Given the description of an element on the screen output the (x, y) to click on. 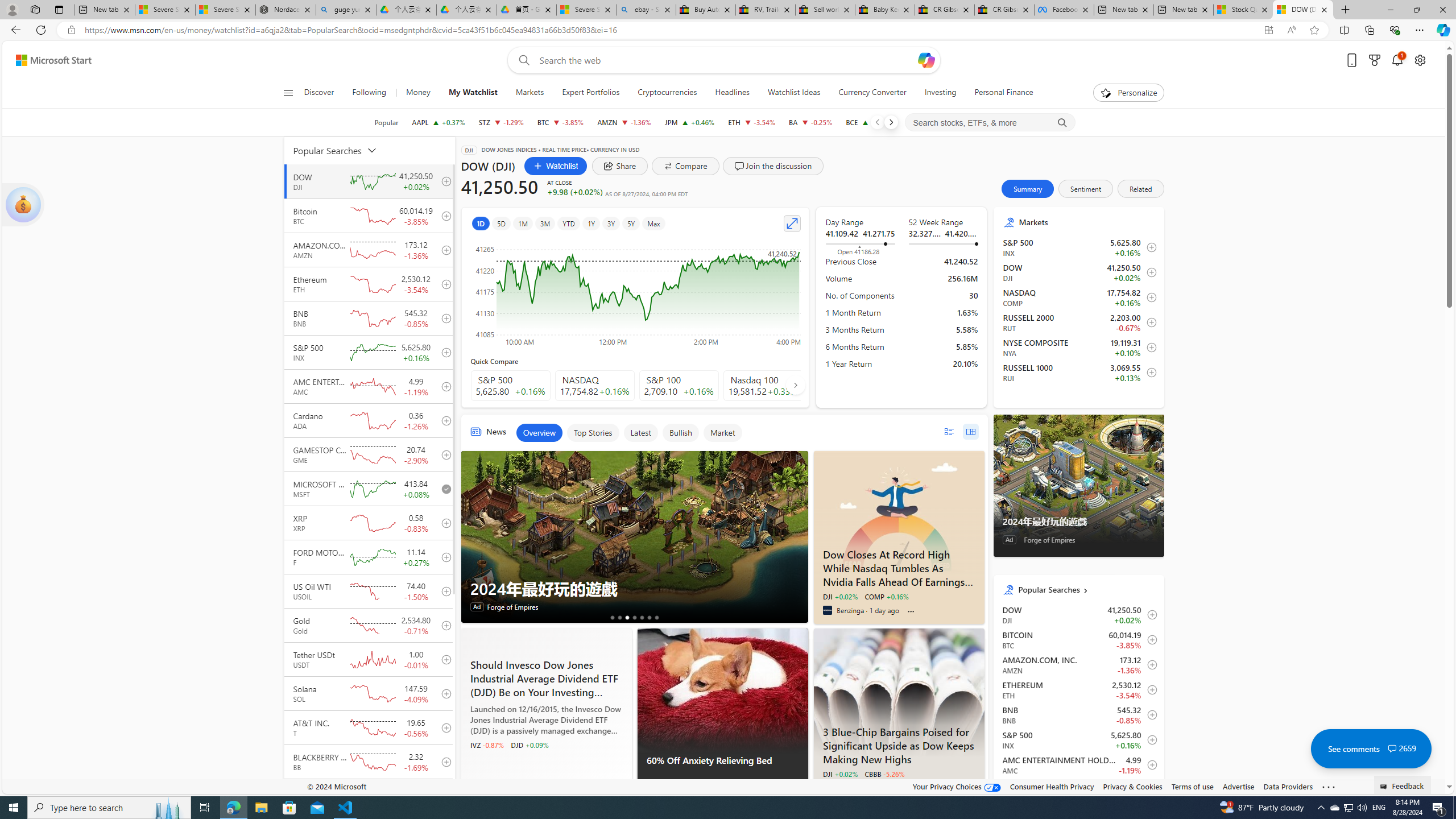
Max (653, 223)
Personal Finance (999, 92)
RV, Trailer & Camper Steps & Ladders for sale | eBay (765, 9)
list layout (948, 431)
Personalize (1128, 92)
Data Providers (1288, 785)
ADA Cardano decrease 0.36 -0.00 -1.26% itemundefined (1078, 789)
Class: cwt-icon-vector (1391, 748)
COMP NASDAQ increase 17,754.82 +29.06 +0.16% itemundefined (1078, 297)
AutomationID: finance_carousel_navi_arrow (795, 385)
ETH Ethereum decrease 2,530.12 -89.57 -3.54% (751, 122)
